Given the description of an element on the screen output the (x, y) to click on. 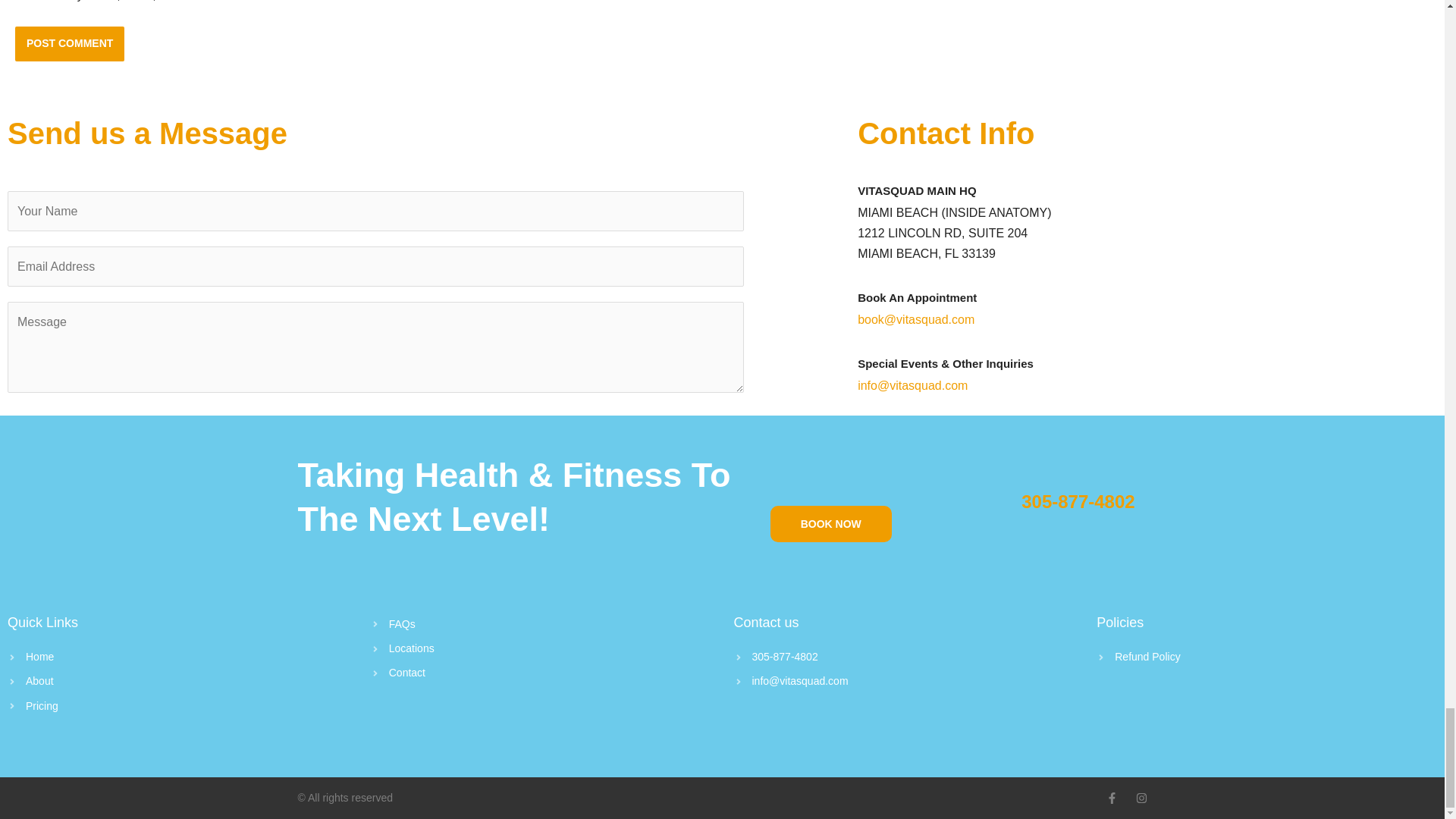
Post Comment (68, 43)
